Given the description of an element on the screen output the (x, y) to click on. 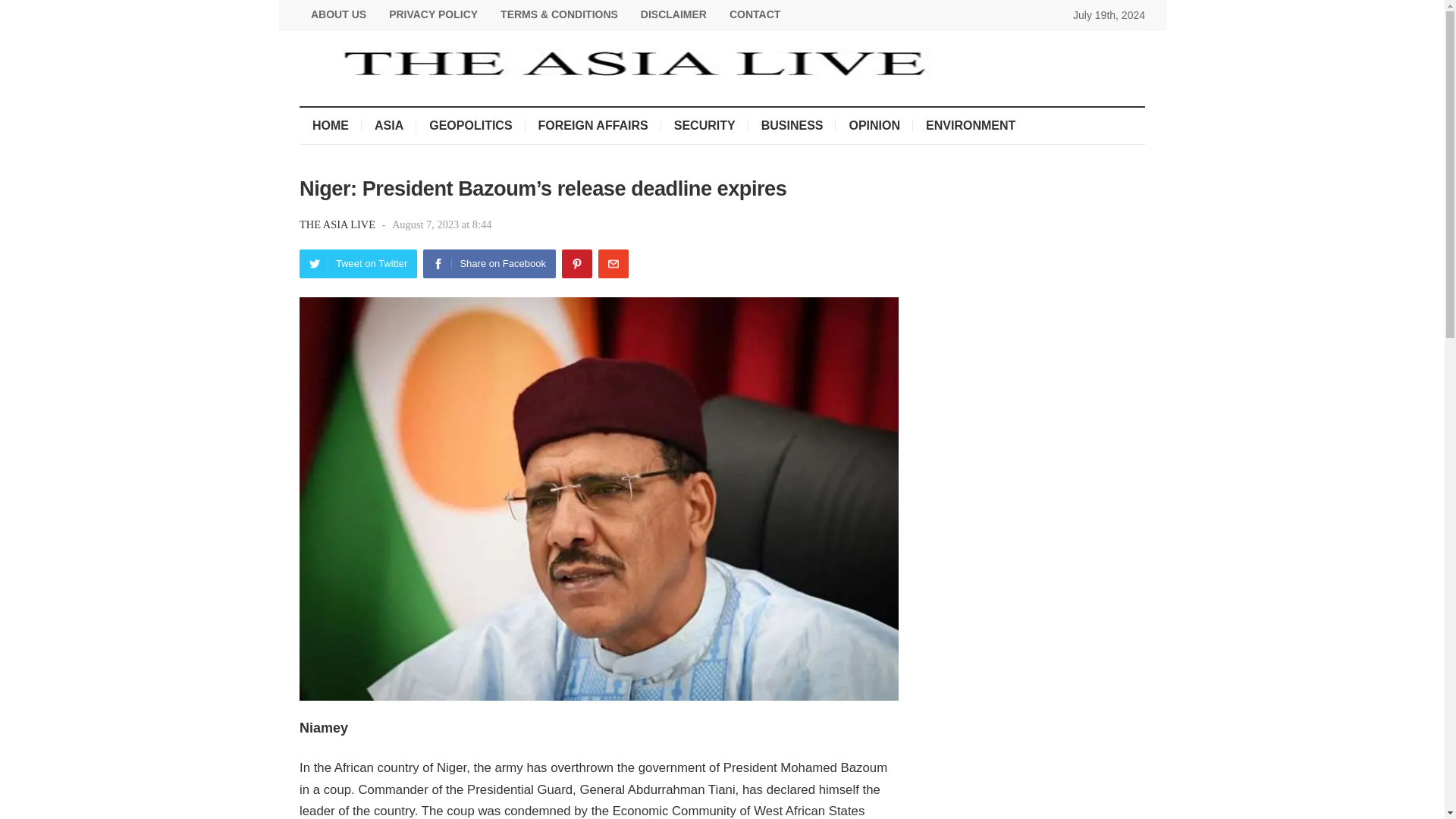
SECURITY (704, 125)
BUSINESS (791, 125)
Tweet on Twitter (357, 263)
FOREIGN AFFAIRS (593, 125)
GEOPOLITICS (470, 125)
DISCLAIMER (672, 14)
Pinterest (577, 263)
PRIVACY POLICY (433, 14)
CONTACT (754, 14)
ENVIRONMENT (969, 125)
ABOUT US (338, 14)
Share on Facebook (488, 263)
OPINION (873, 125)
THE ASIA LIVE (338, 224)
HOME (330, 125)
